Given the description of an element on the screen output the (x, y) to click on. 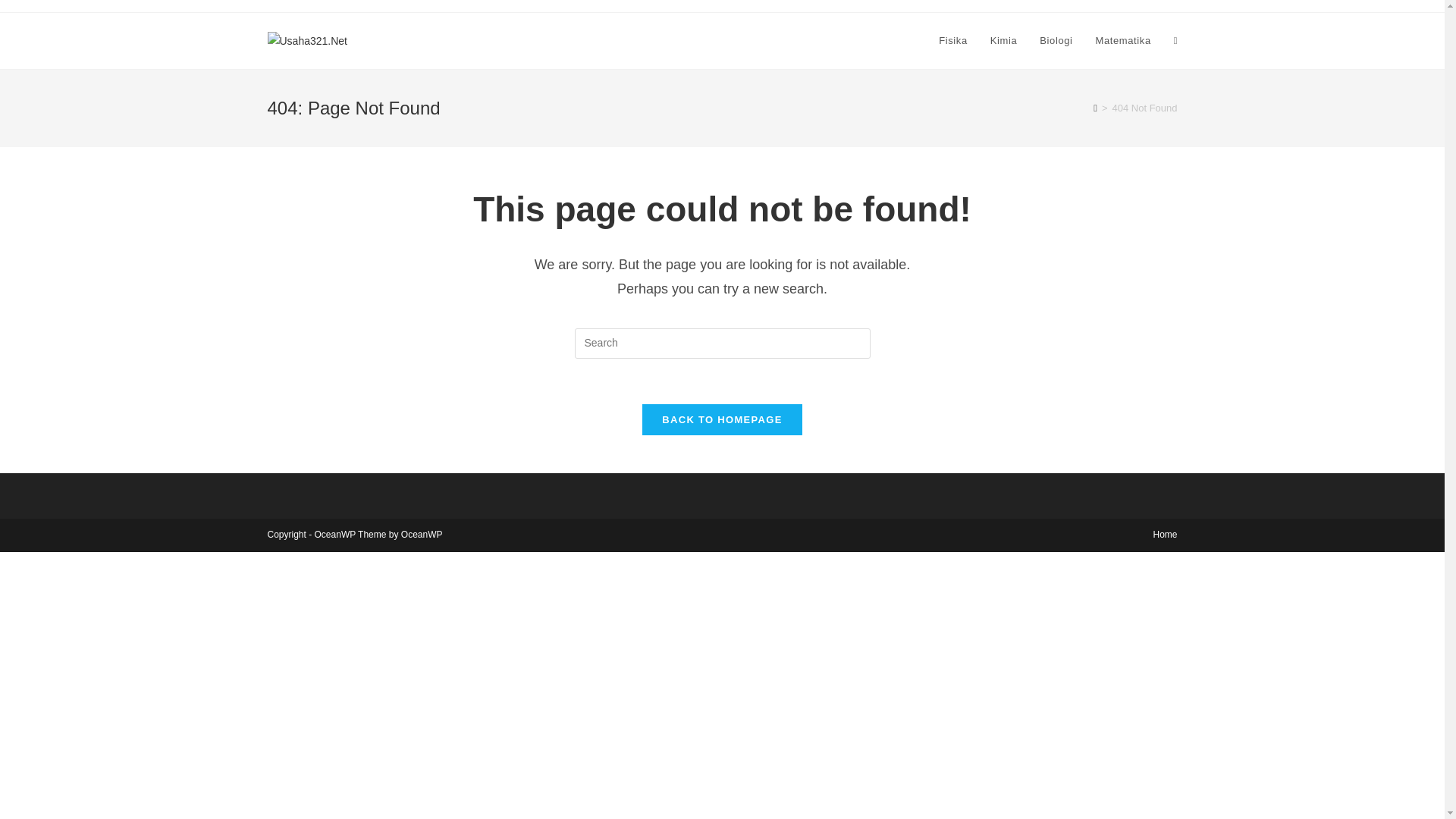
BACK TO HOMEPAGE (722, 419)
Home (1164, 534)
Kimia (1003, 40)
Biologi (1055, 40)
Fisika (952, 40)
Matematika (1122, 40)
